Given the description of an element on the screen output the (x, y) to click on. 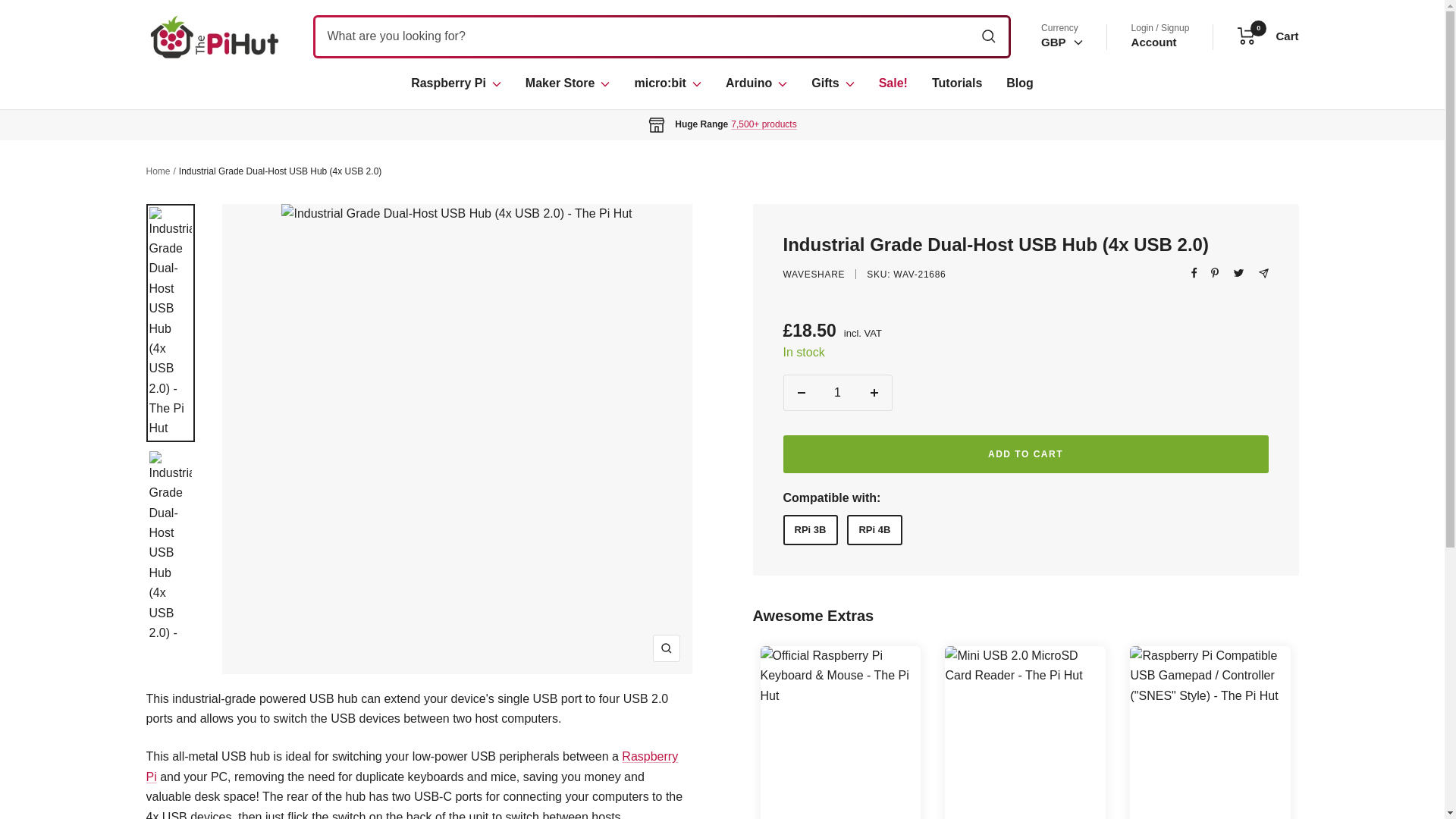
Account (1153, 42)
1 (837, 392)
The Pi Hut (213, 36)
Arduino (1267, 36)
EUR (756, 83)
USD (1058, 161)
CAD (1058, 116)
Raspberry Pi (1058, 139)
GBP (455, 83)
